Given the description of an element on the screen output the (x, y) to click on. 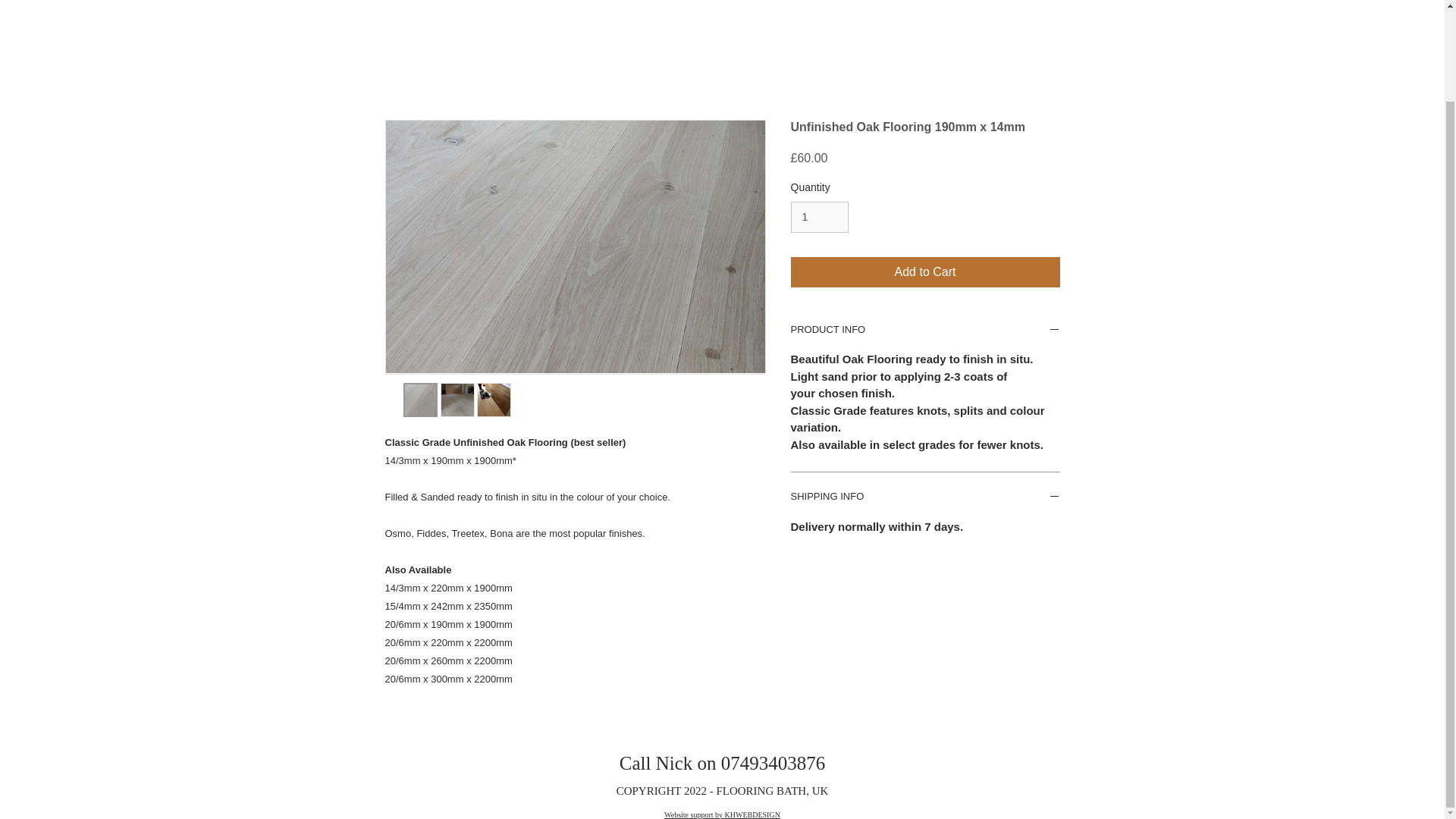
Accessories (1162, 5)
Add to Cart (924, 272)
1 (818, 216)
Vinyl (672, 5)
PRODUCT INFO (924, 331)
HOME (77, 5)
Carpets (834, 5)
Rugs (991, 5)
Oak Plank (250, 5)
Oak Herringbone (470, 5)
